Given the description of an element on the screen output the (x, y) to click on. 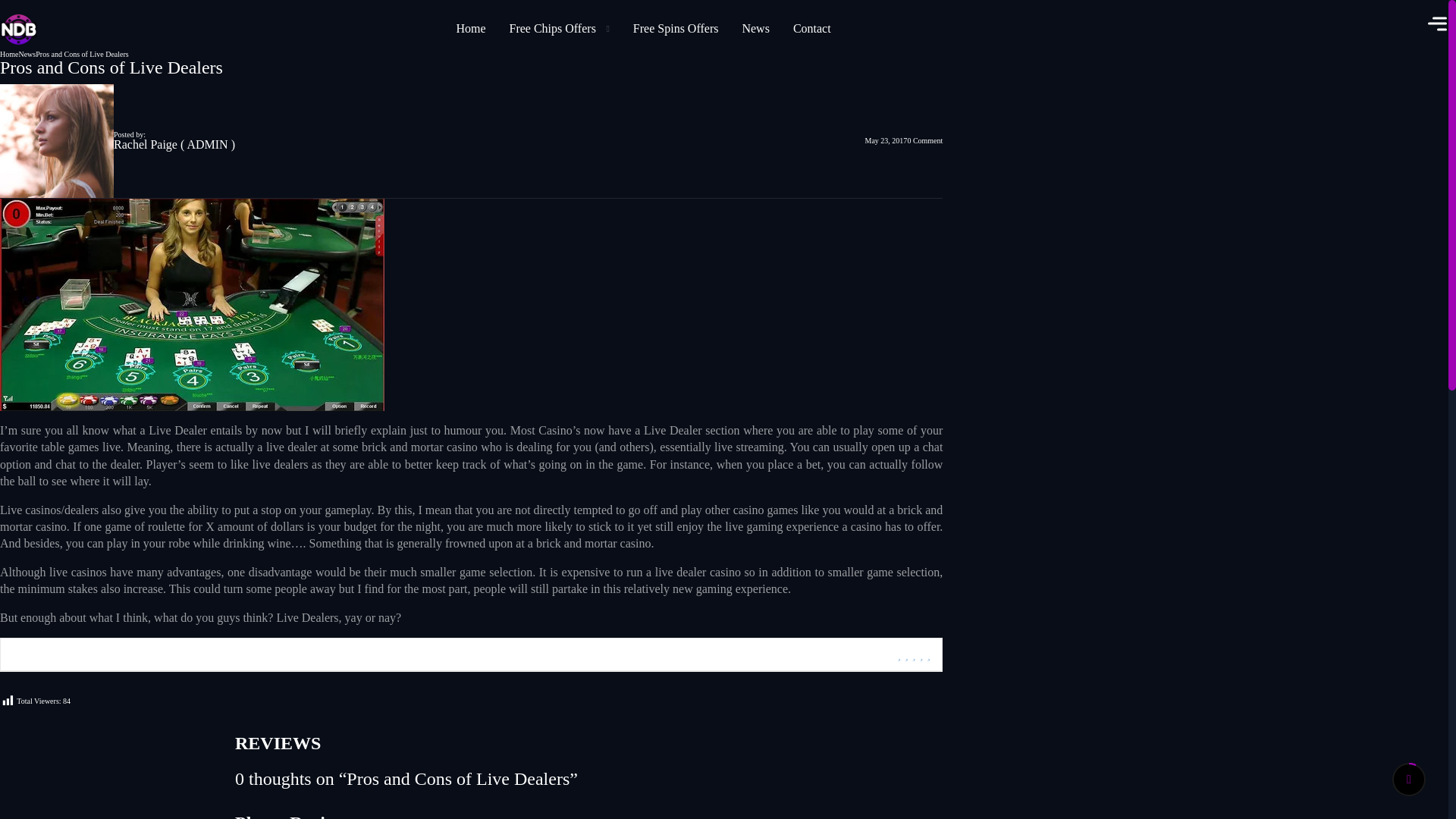
Home (469, 27)
Free Spins Offers (676, 27)
Pros and Cons of Live Dealers (81, 53)
Home (8, 53)
News (754, 27)
News (25, 53)
Free Chips Offers (559, 27)
Contact (812, 27)
